Given the description of an element on the screen output the (x, y) to click on. 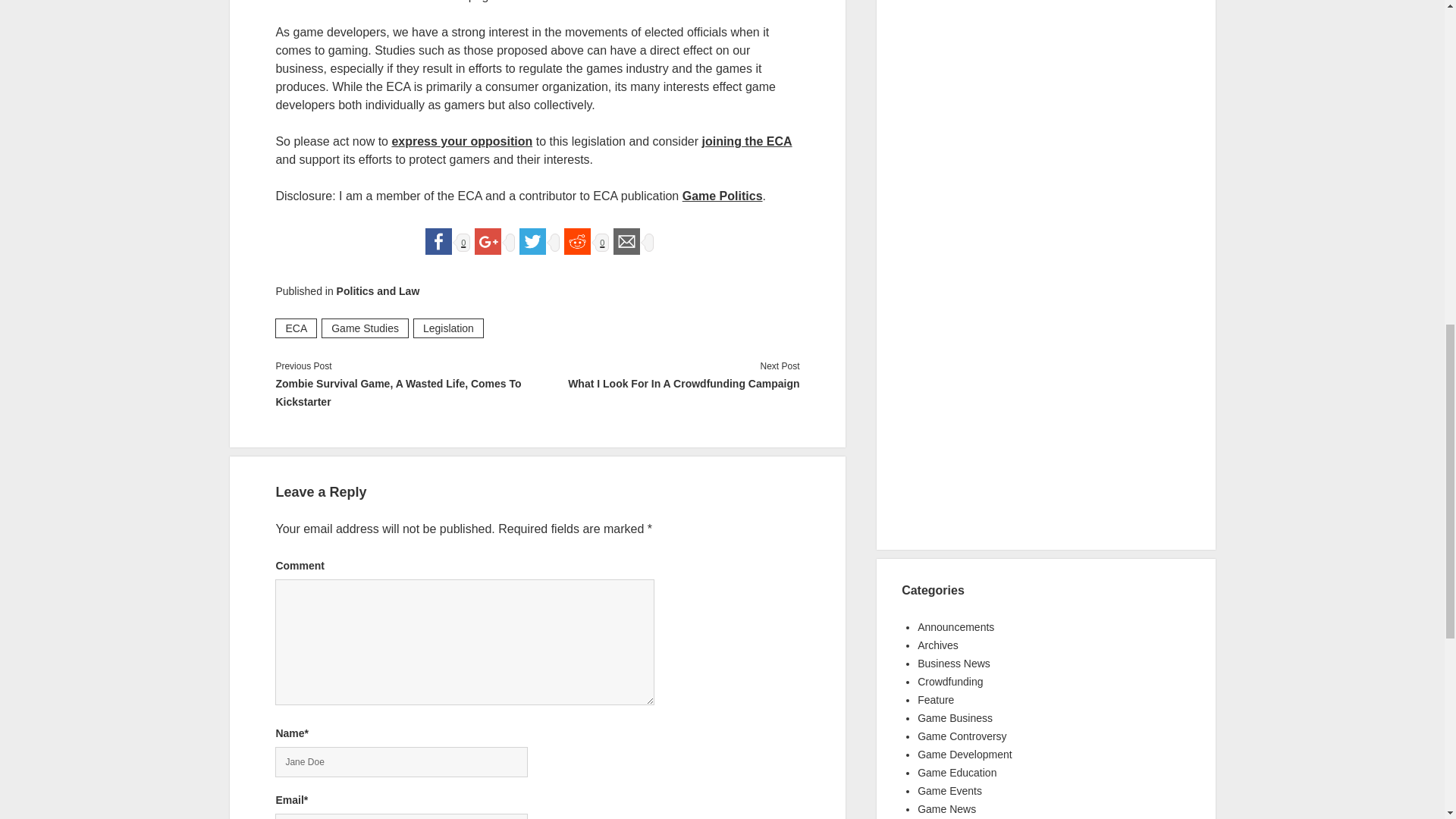
What I Look For In A Crowdfunding Campaign (668, 383)
google (487, 241)
Game Studies (365, 328)
0 (583, 239)
0 (445, 239)
joining the ECA (746, 141)
View all posts tagged ECA (296, 328)
Game Politics (722, 195)
express your opposition (461, 141)
Legislation (448, 328)
Crowdfunding (949, 681)
Zombie Survival Game, A Wasted Life, Comes To Kickstarter (406, 392)
reddit (577, 241)
Business News (953, 663)
Archives (937, 645)
